Given the description of an element on the screen output the (x, y) to click on. 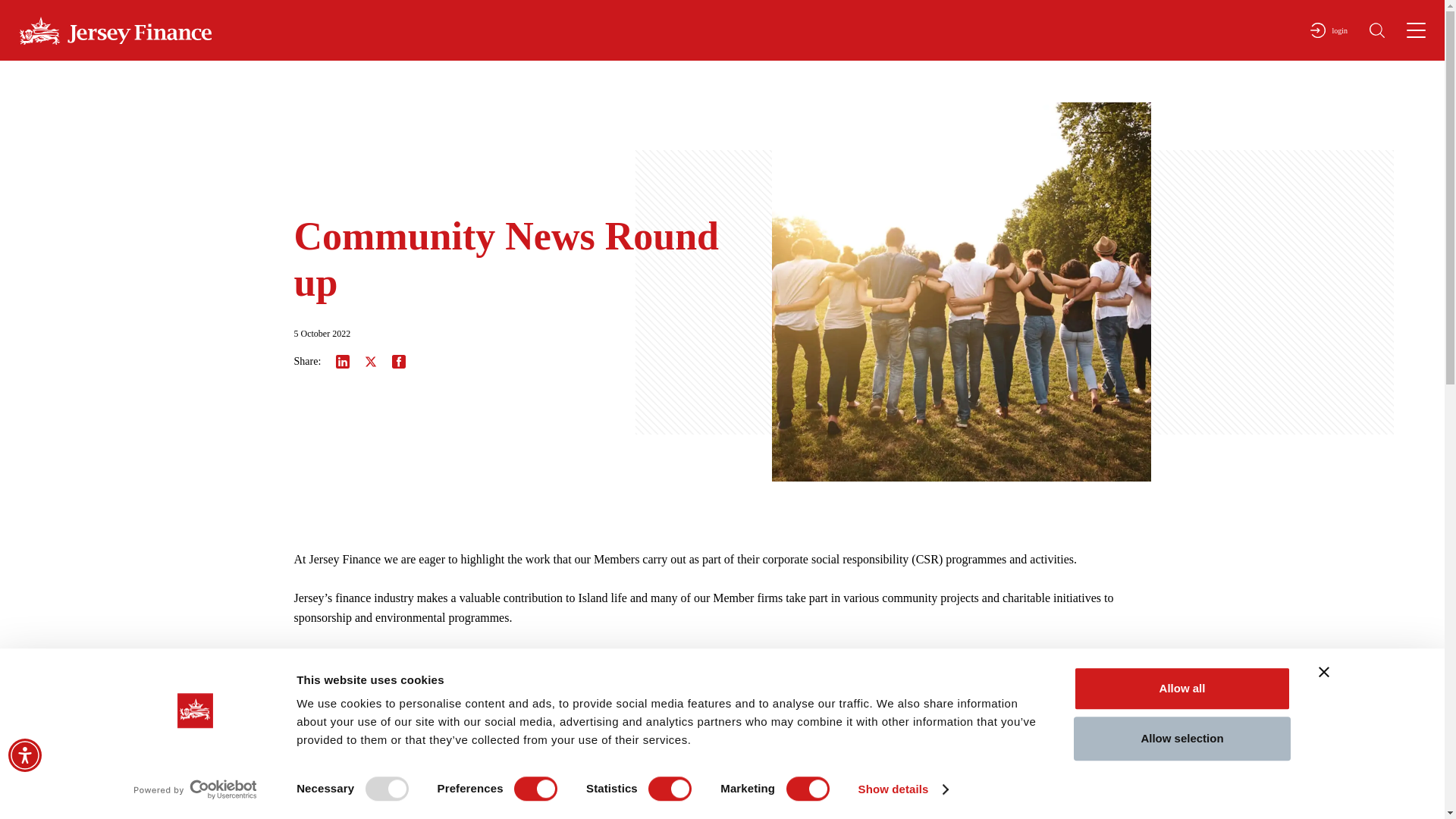
Show details (902, 789)
